Given the description of an element on the screen output the (x, y) to click on. 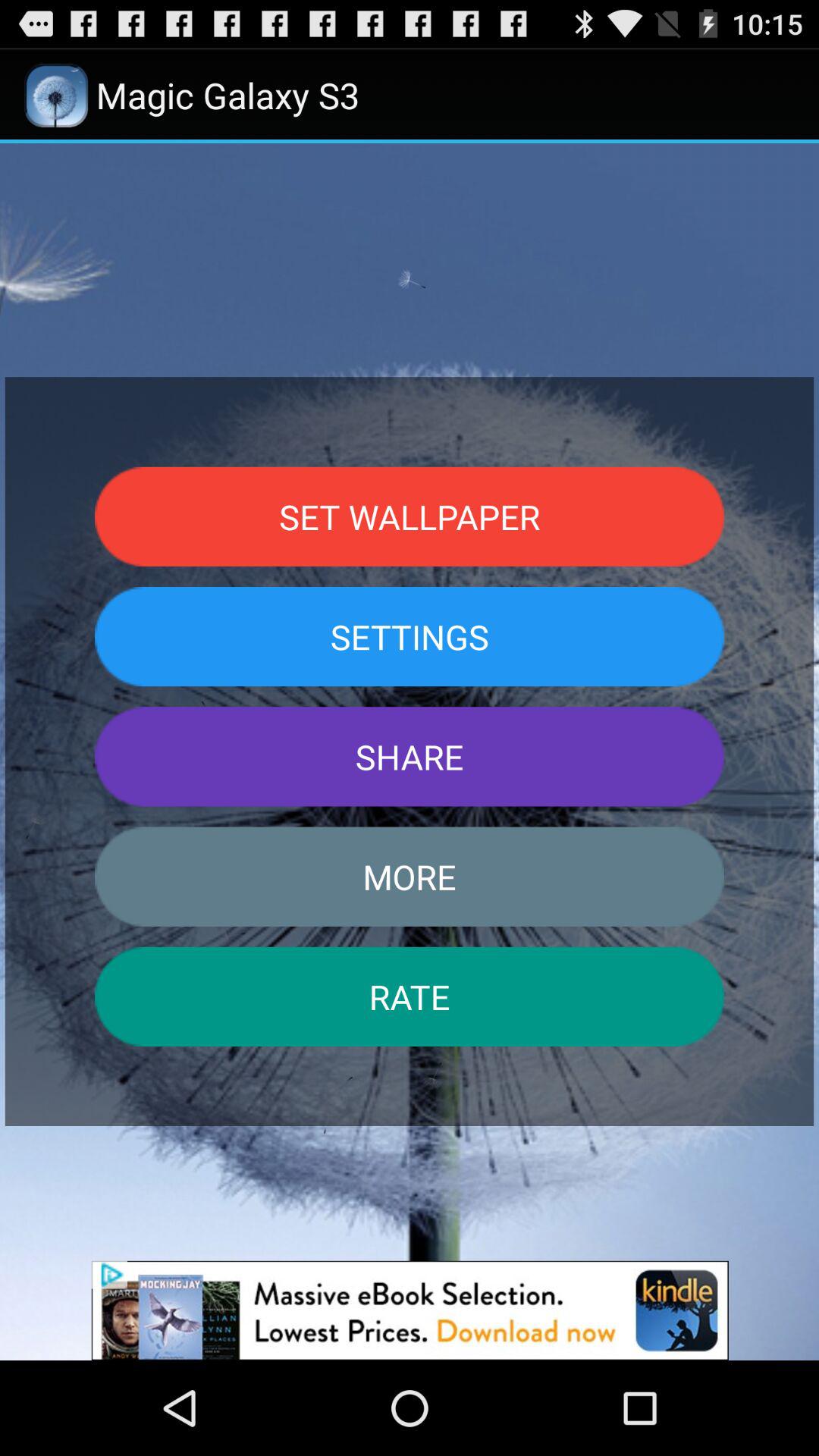
launch the icon above more item (409, 756)
